Given the description of an element on the screen output the (x, y) to click on. 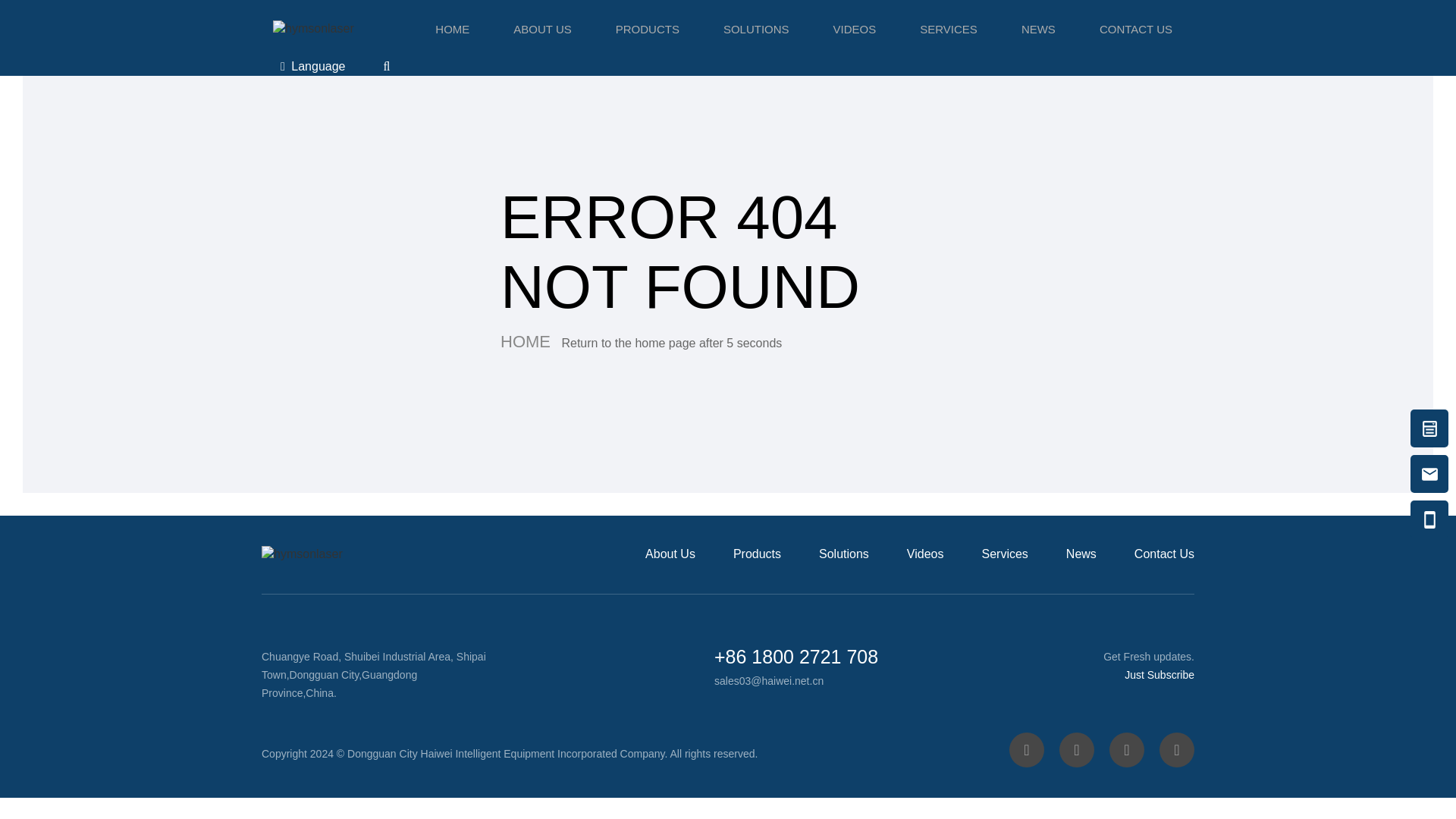
SERVICES (948, 29)
Language (312, 67)
SOLUTIONS (756, 29)
VIDEOS (854, 29)
CONTACT US (1135, 29)
ABOUT US (541, 29)
PRODUCTS (647, 29)
NEWS (1037, 29)
HOME (452, 29)
